Given the description of an element on the screen output the (x, y) to click on. 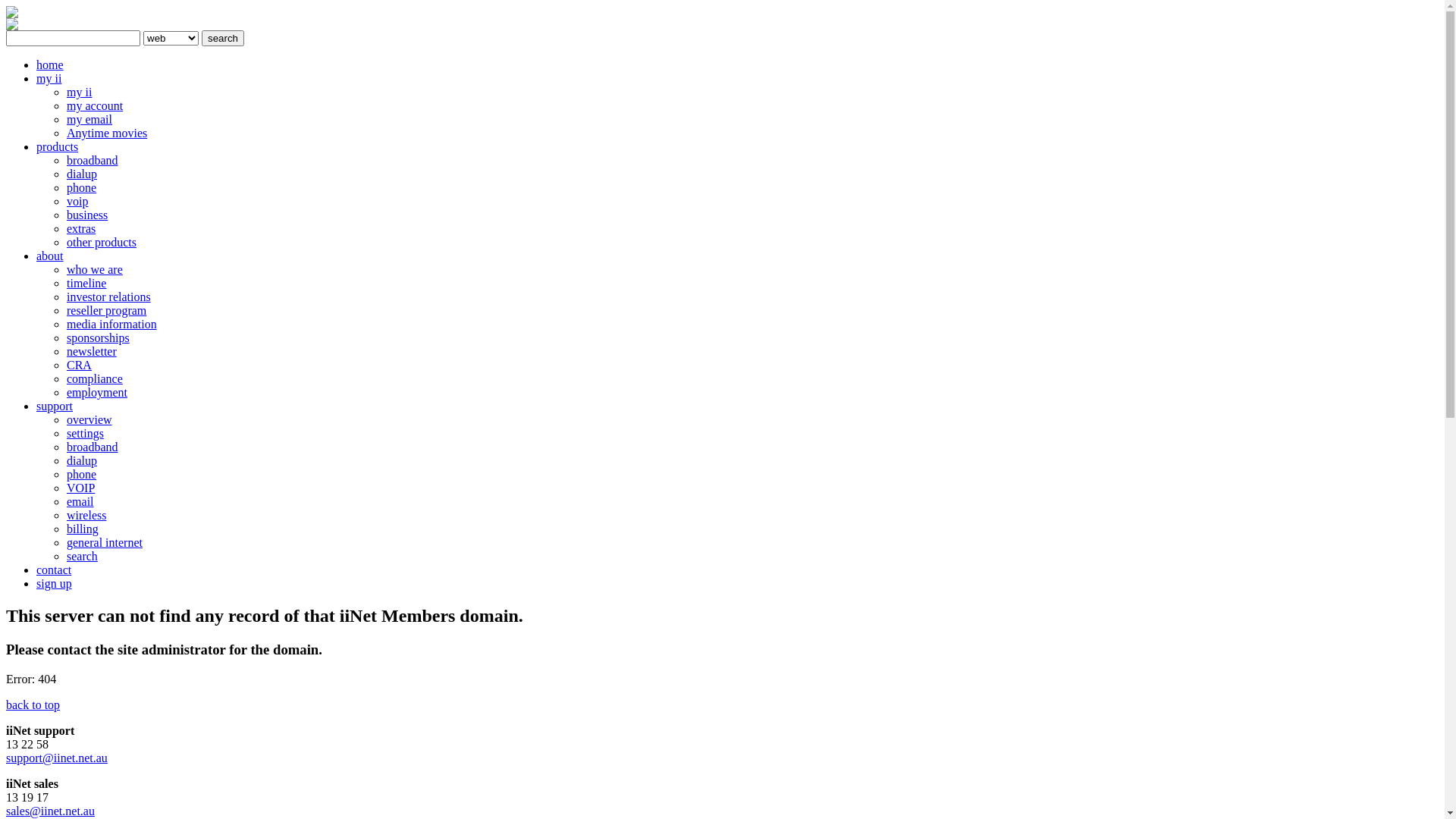
billing Element type: text (82, 528)
search Element type: text (81, 555)
general internet Element type: text (104, 542)
sales@iinet.net.au Element type: text (50, 810)
broadband Element type: text (92, 159)
support@iinet.net.au Element type: text (56, 757)
sign up Element type: text (54, 583)
back to top Element type: text (32, 704)
extras Element type: text (80, 228)
broadband Element type: text (92, 446)
Anytime movies Element type: text (106, 132)
dialup Element type: text (81, 173)
email Element type: text (80, 501)
support Element type: text (54, 405)
search Element type: text (222, 38)
voip Element type: text (76, 200)
sponsorships Element type: text (97, 337)
reseller program Element type: text (106, 310)
contact Element type: text (53, 569)
settings Element type: text (84, 432)
overview Element type: text (89, 419)
compliance Element type: text (94, 378)
other products Element type: text (101, 241)
employment Element type: text (96, 391)
my account Element type: text (94, 105)
newsletter Element type: text (91, 351)
my ii Element type: text (78, 91)
media information Element type: text (111, 323)
timeline Element type: text (86, 282)
about Element type: text (49, 255)
wireless Element type: text (86, 514)
home Element type: text (49, 64)
dialup Element type: text (81, 460)
phone Element type: text (81, 473)
VOIP Element type: text (80, 487)
products Element type: text (57, 146)
investor relations Element type: text (108, 296)
CRA Element type: text (78, 364)
my ii Element type: text (48, 78)
my email Element type: text (89, 118)
who we are Element type: text (94, 269)
phone Element type: text (81, 187)
business Element type: text (86, 214)
